Given the description of an element on the screen output the (x, y) to click on. 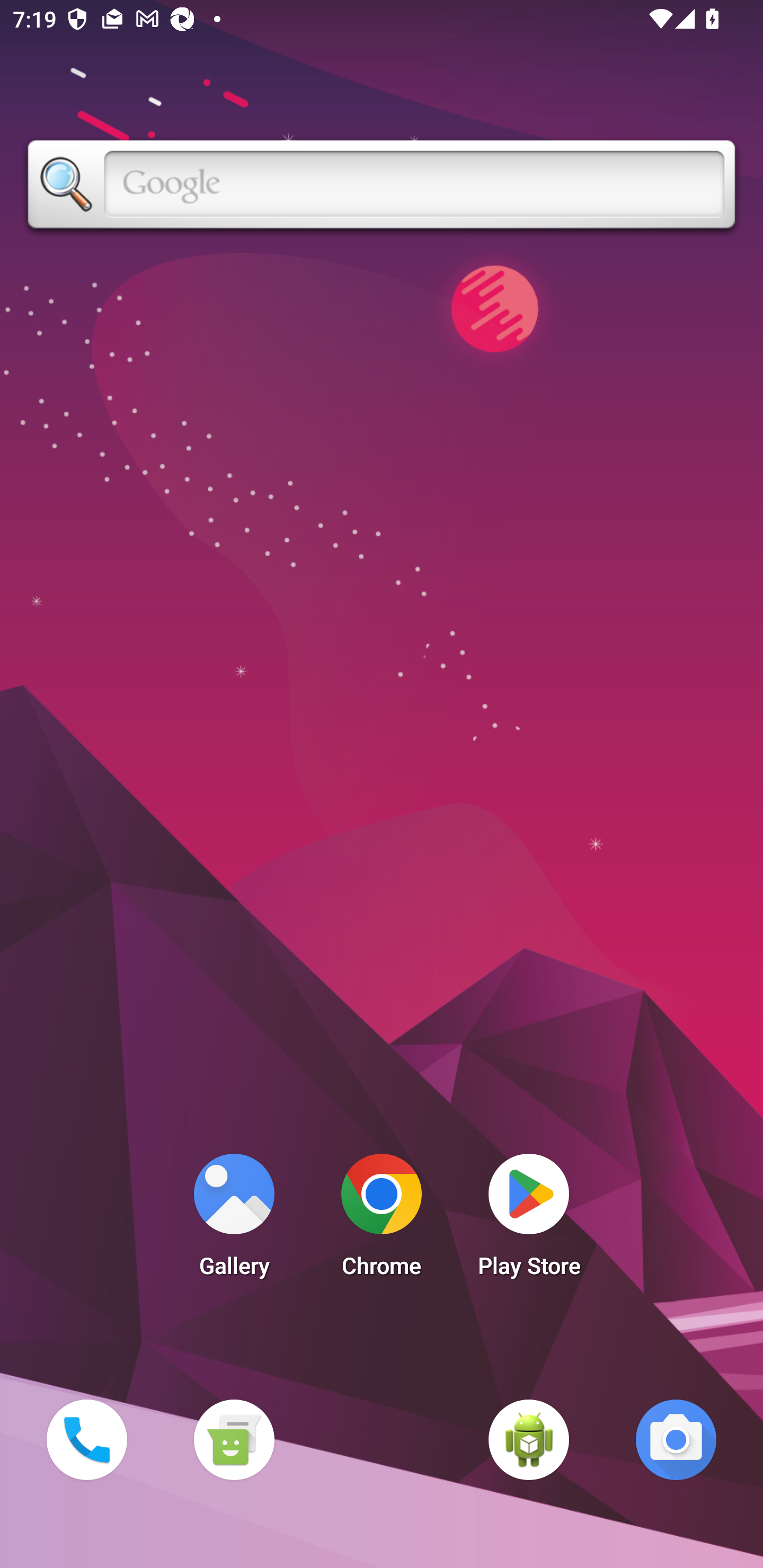
Gallery (233, 1220)
Chrome (381, 1220)
Play Store (528, 1220)
Phone (86, 1439)
Messaging (233, 1439)
WebView Browser Tester (528, 1439)
Camera (676, 1439)
